Given the description of an element on the screen output the (x, y) to click on. 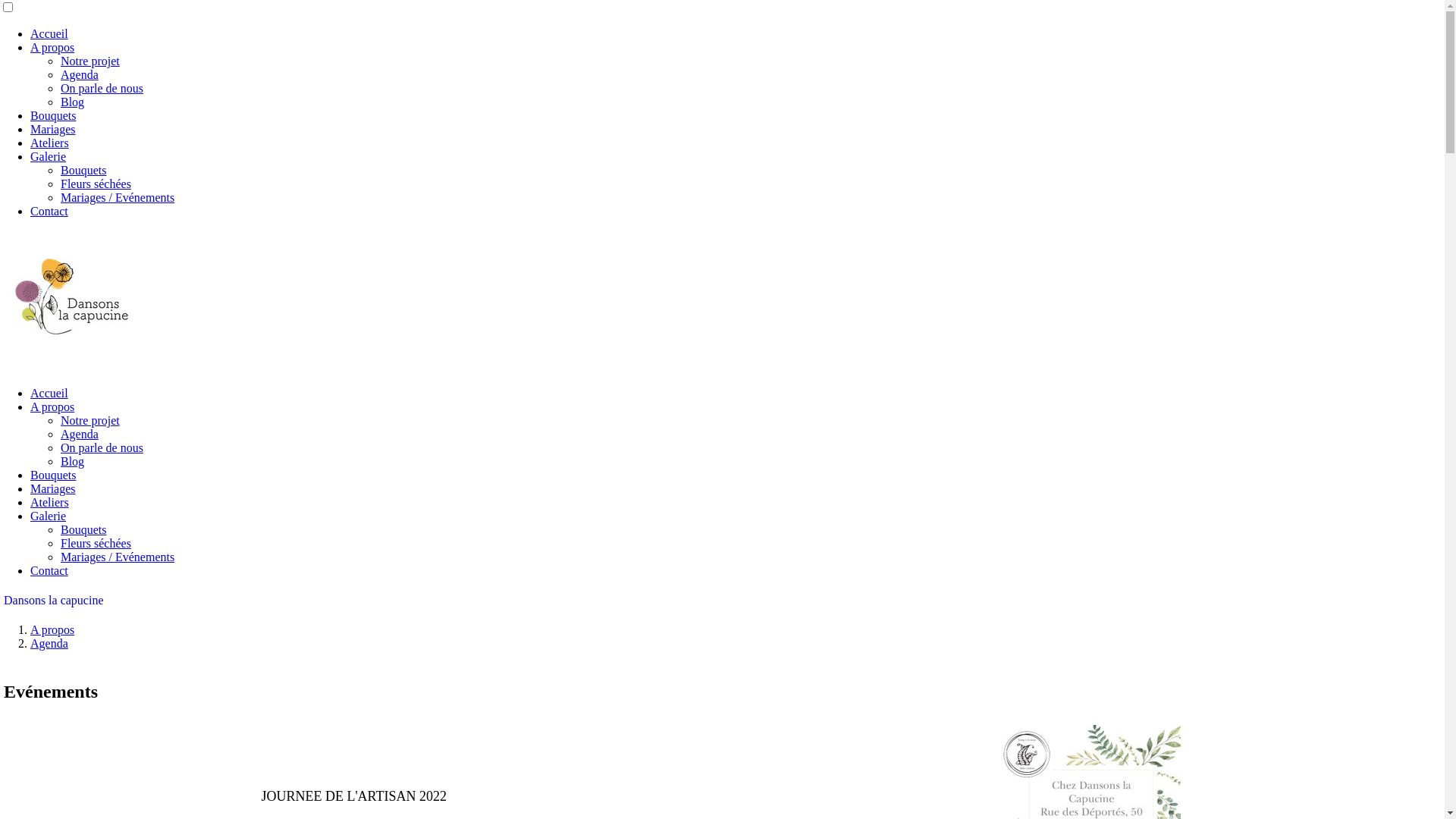
Ateliers Element type: text (49, 142)
Bouquets Element type: text (83, 529)
Accueil Element type: text (49, 392)
Contact Element type: text (49, 570)
Ateliers Element type: text (49, 501)
Agenda Element type: text (79, 74)
Notre projet Element type: text (89, 60)
Blog Element type: text (72, 101)
Bouquets Element type: text (52, 115)
Contact Element type: text (49, 210)
Accueil Element type: text (49, 33)
A propos Element type: text (52, 406)
Galerie Element type: text (47, 515)
A propos Element type: text (52, 629)
Dansons la capucine Element type: text (721, 600)
Notre projet Element type: text (89, 420)
Mariages Element type: text (52, 488)
Galerie Element type: text (47, 156)
Mariages Element type: text (52, 128)
Agenda Element type: text (79, 433)
Agenda Element type: text (49, 643)
Bouquets Element type: text (52, 474)
On parle de nous Element type: text (101, 447)
Blog Element type: text (72, 461)
A propos Element type: text (52, 46)
On parle de nous Element type: text (101, 87)
Bouquets Element type: text (83, 169)
